Given the description of an element on the screen output the (x, y) to click on. 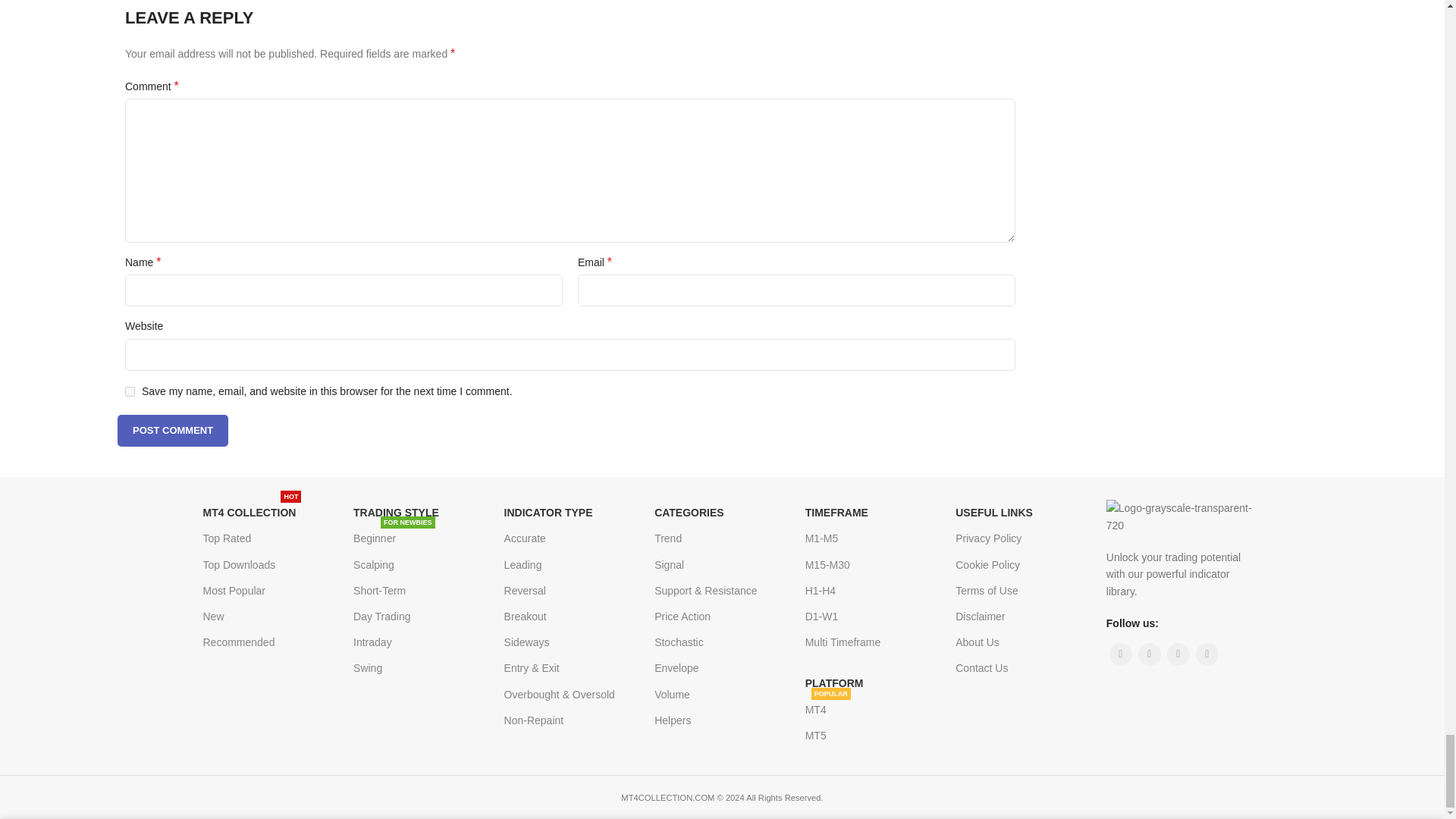
yes (130, 391)
Logo-grayscale-transparent-720 (1181, 516)
Post Comment (172, 430)
